Given the description of an element on the screen output the (x, y) to click on. 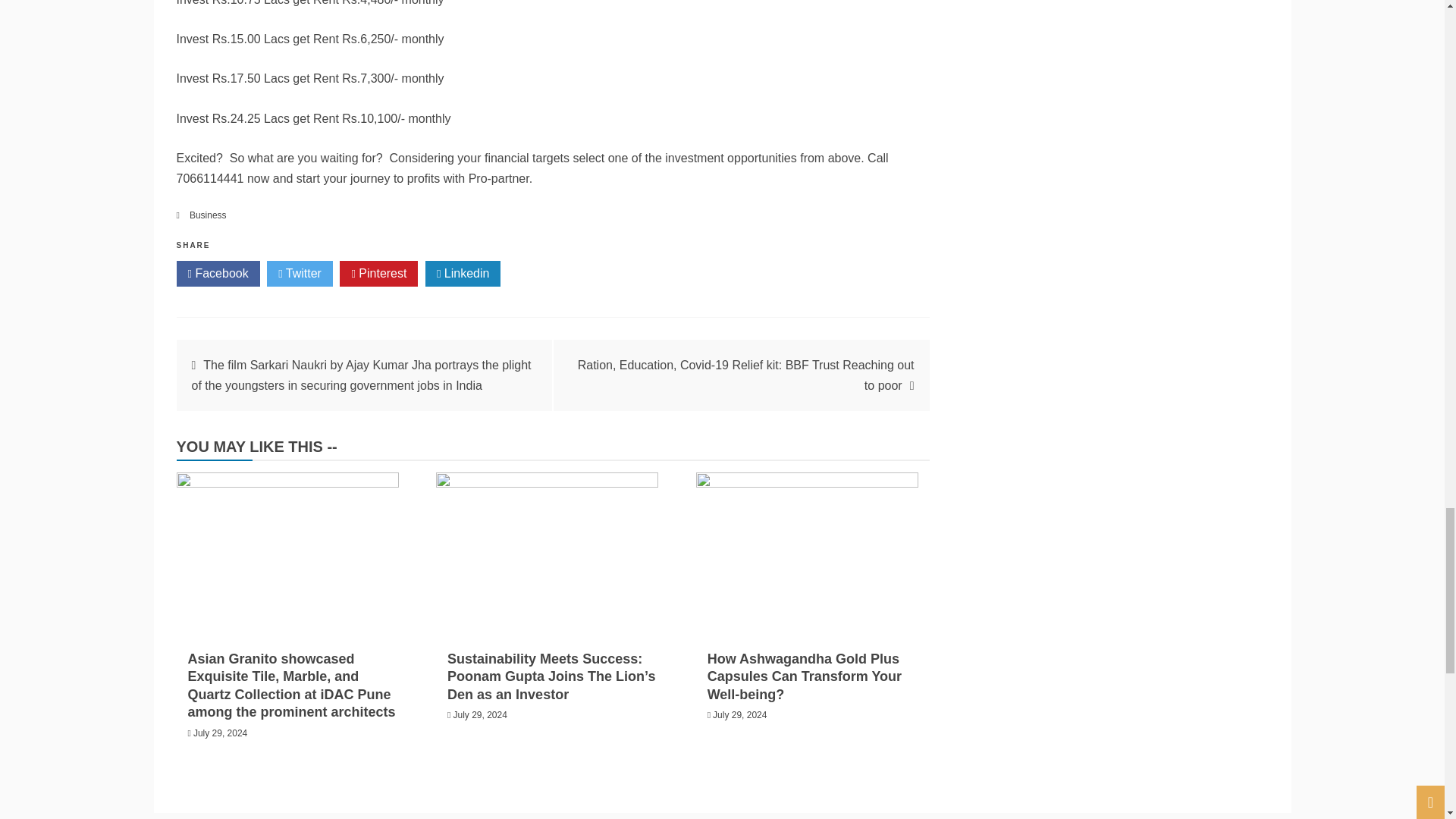
Facebook (217, 273)
Business (208, 214)
Linkedin (462, 273)
Twitter (299, 273)
Pinterest (378, 273)
